Given the description of an element on the screen output the (x, y) to click on. 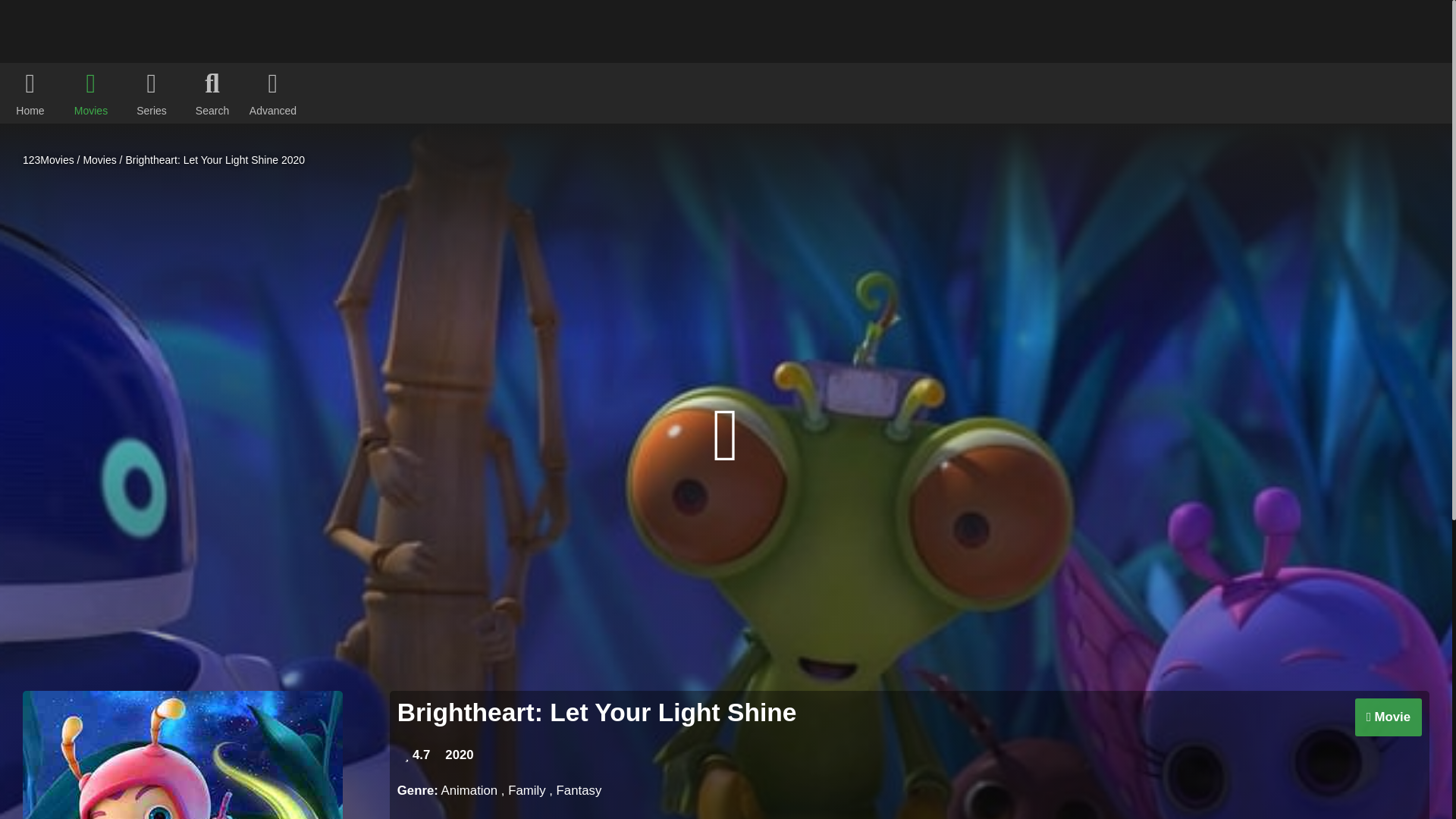
Brightheart: Let Your Light Shine 2020 (214, 159)
Brightheart: Let Your Light Shine 2020 (214, 159)
Movies (99, 159)
Movies (99, 159)
Release date (459, 754)
123Movies (48, 159)
Rating (417, 754)
123Movies (48, 159)
